Given the description of an element on the screen output the (x, y) to click on. 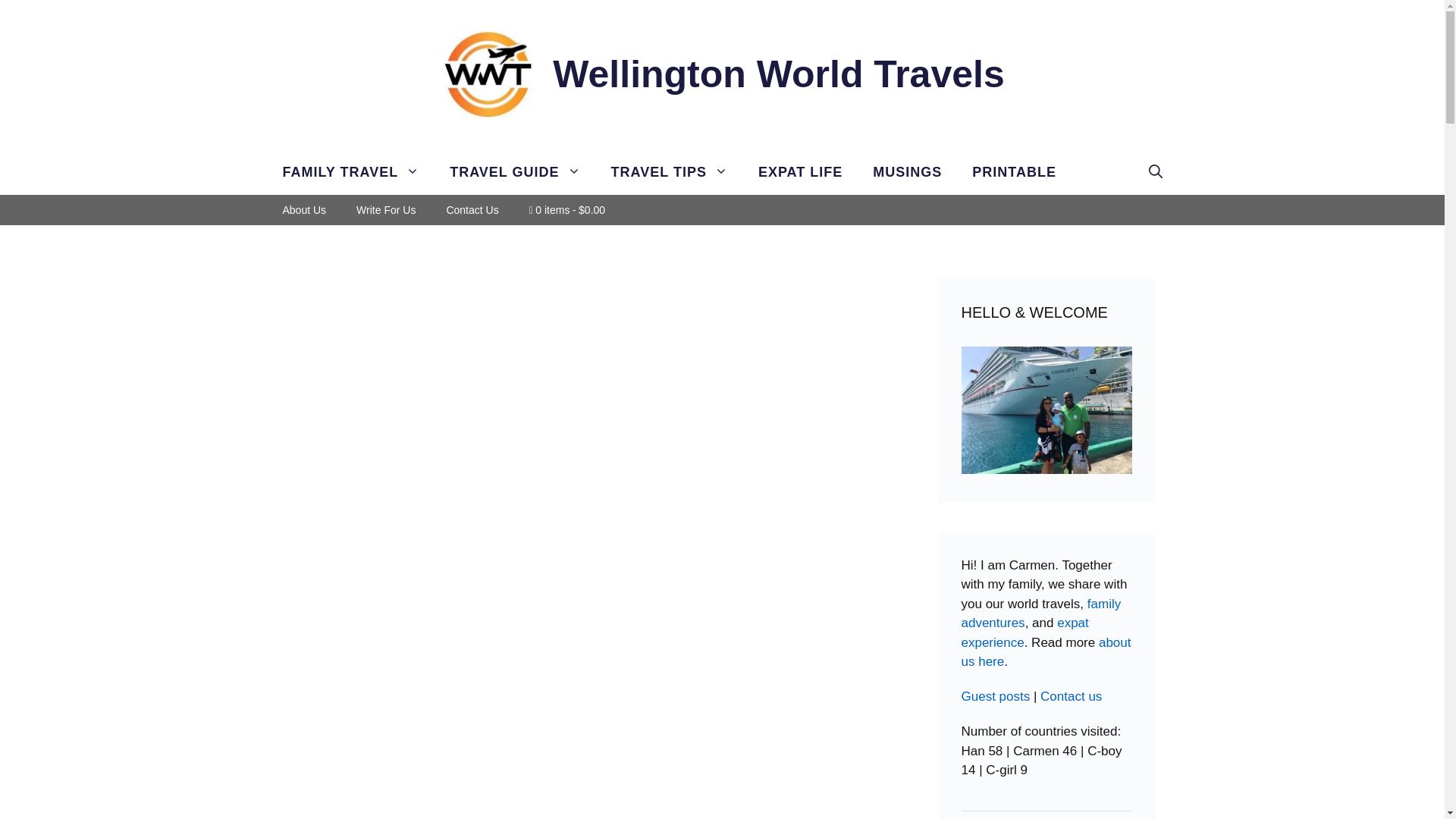
Wellington World Travels (778, 74)
Start shopping (566, 209)
TRAVEL GUIDE (514, 171)
FAMILY TRAVEL (349, 171)
TRAVEL TIPS (668, 171)
